Given the description of an element on the screen output the (x, y) to click on. 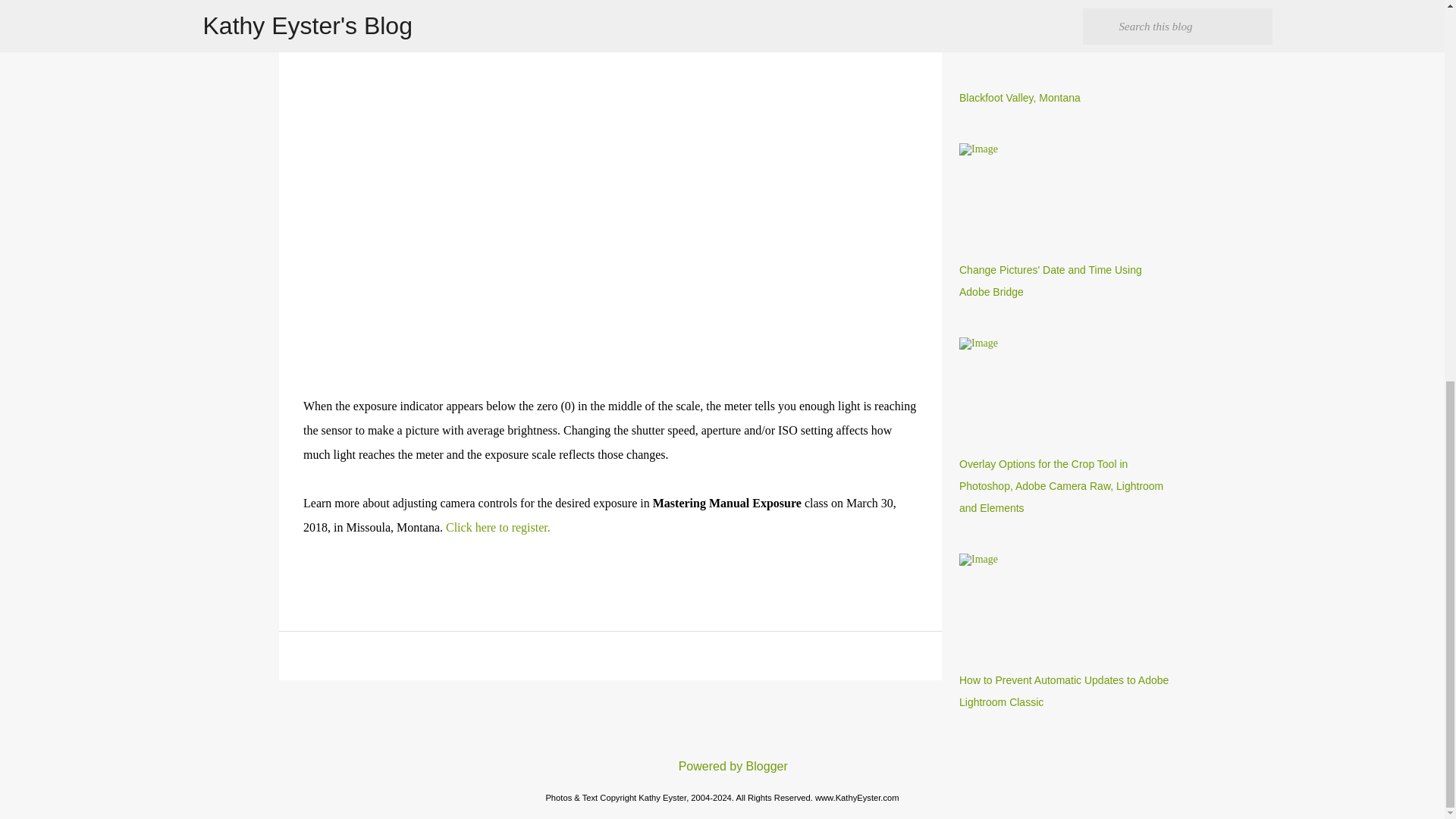
Change Pictures' Date and Time Using Adobe Bridge (1050, 280)
Click here to register. (497, 526)
Powered by Blogger (721, 766)
Blackfoot Valley, Montana (1019, 97)
How to Prevent Automatic Updates to Adobe Lightroom Classic (1064, 691)
